Given the description of an element on the screen output the (x, y) to click on. 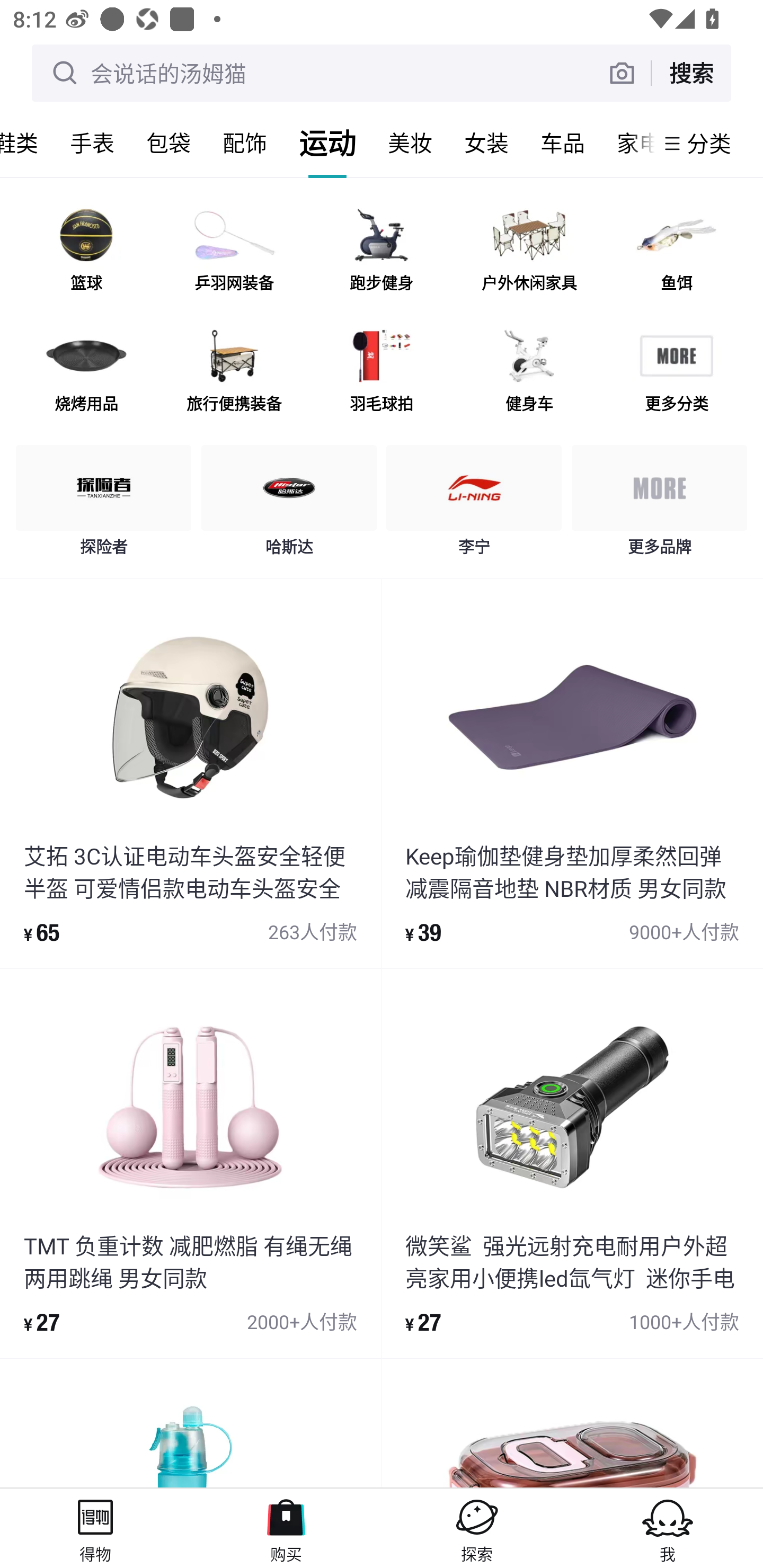
搜索 (690, 72)
鞋类 (27, 143)
手表 (92, 143)
包袋 (168, 143)
配饰 (244, 143)
运动 (327, 143)
美妆 (410, 143)
女装 (486, 143)
车品 (562, 143)
家电 (627, 143)
分类 (708, 143)
篮球 (86, 251)
乒羽网装备 (233, 251)
跑步健身 (381, 251)
户外休闲家具 (528, 251)
鱼饵 (676, 251)
烧烤用品 (86, 372)
旅行便携装备 (233, 372)
羽毛球拍 (381, 372)
健身车 (528, 372)
更多分类 (676, 372)
探险者 (103, 505)
哈斯达 (288, 505)
李宁 (473, 505)
更多品牌 (658, 505)
得物 (95, 1528)
购买 (285, 1528)
探索 (476, 1528)
我 (667, 1528)
